Given the description of an element on the screen output the (x, y) to click on. 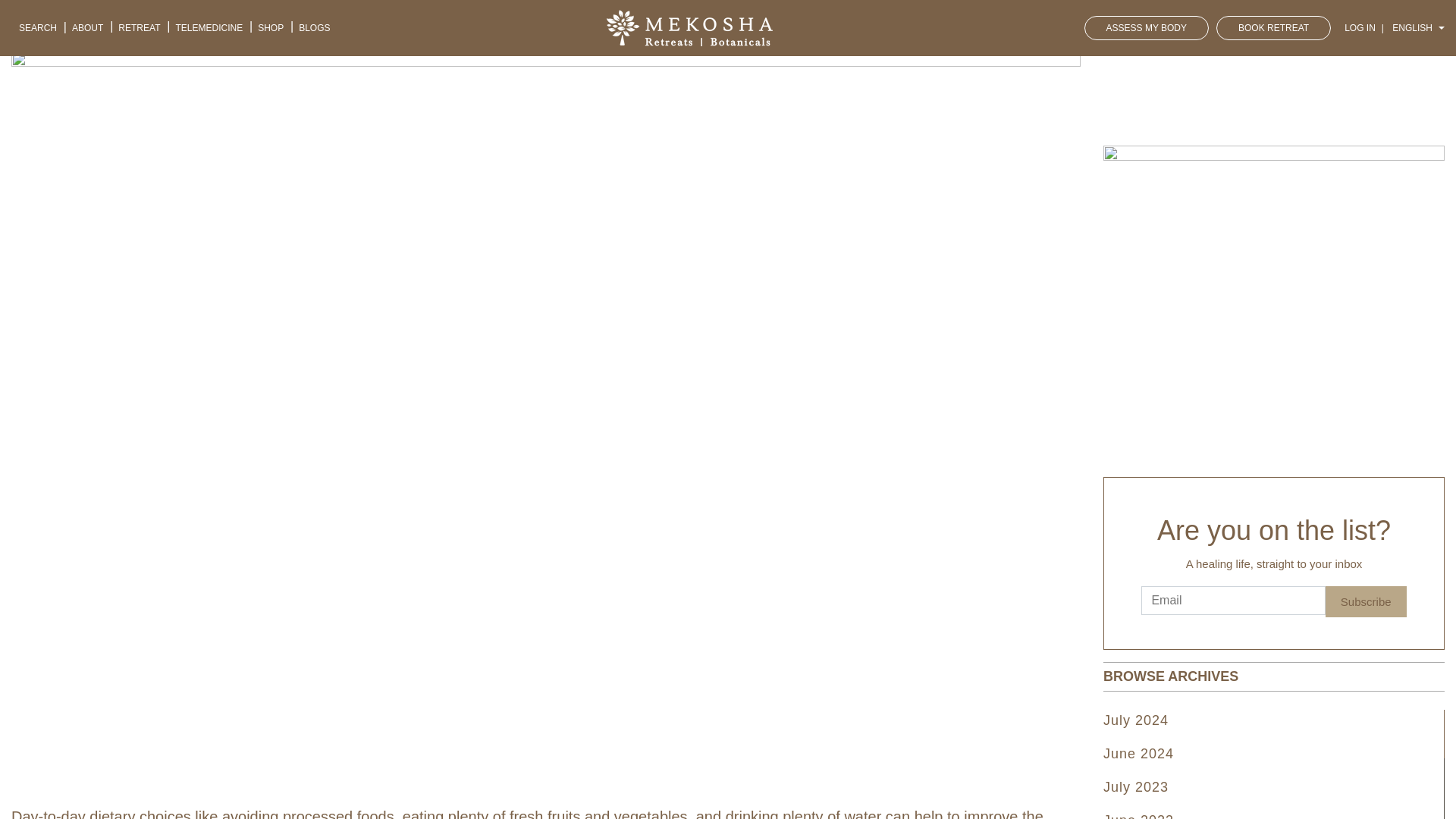
Subscribe (1365, 601)
